Given the description of an element on the screen output the (x, y) to click on. 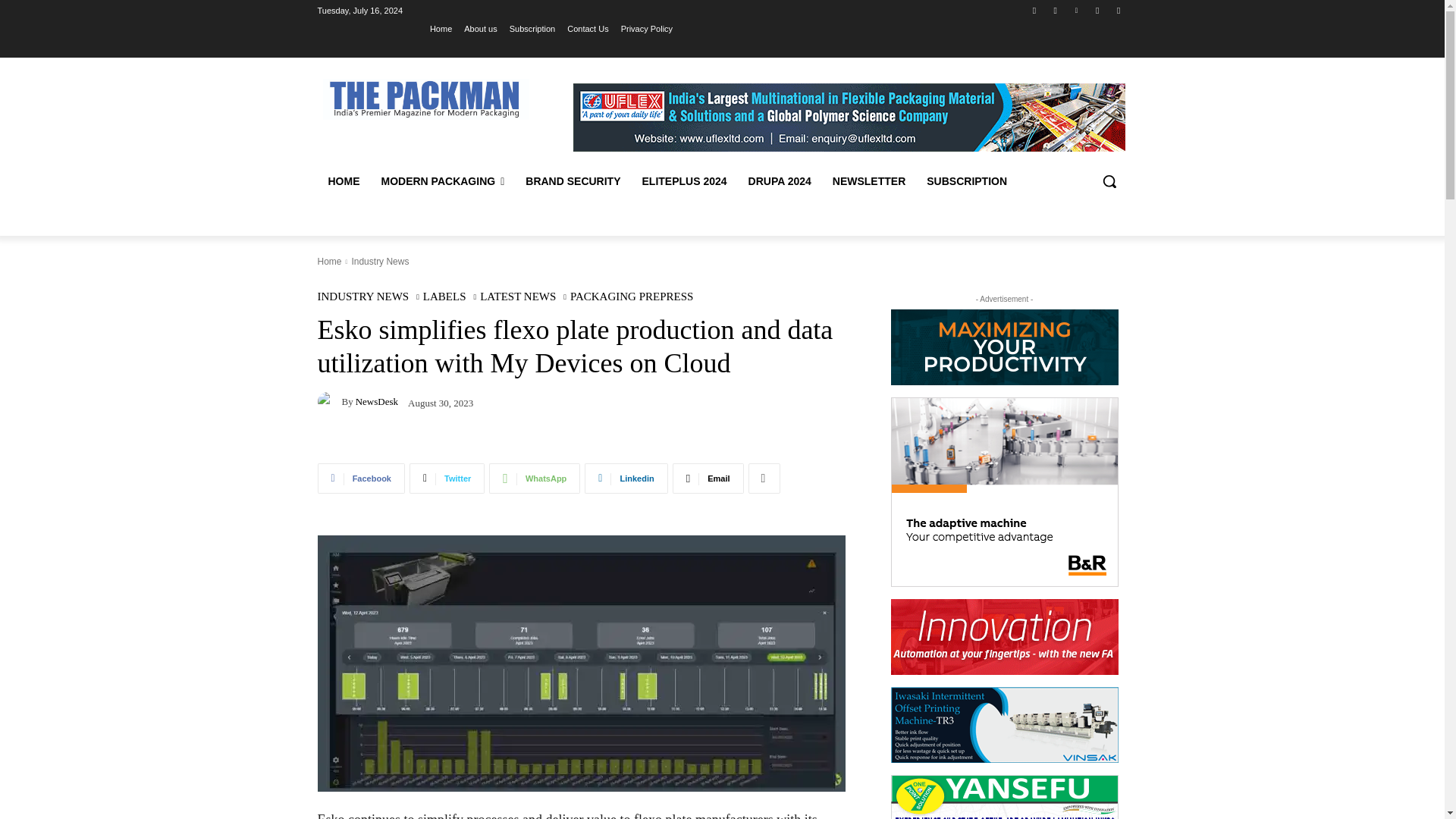
Linkedin (1075, 9)
About us (480, 28)
HOME (343, 180)
Contact Us (587, 28)
MODERN PACKAGING (442, 180)
Facebook (1034, 9)
Home (440, 28)
View all posts in Industry News (379, 261)
Youtube (1117, 9)
ELITEPLUS 2024 (683, 180)
NEWSLETTER (868, 180)
Instagram (1055, 9)
Twitter (1097, 9)
Privacy Policy (646, 28)
Subscription (532, 28)
